Given the description of an element on the screen output the (x, y) to click on. 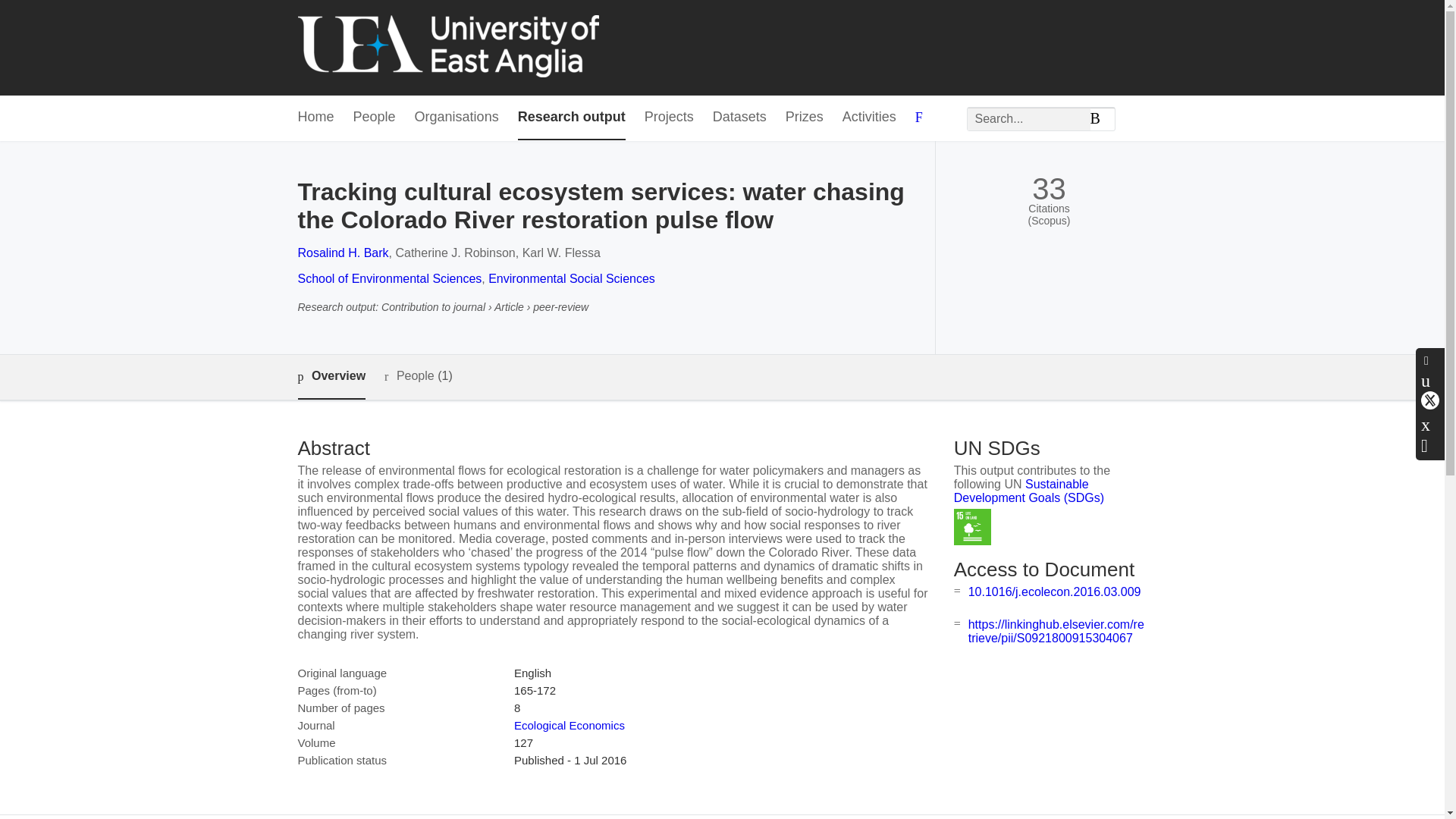
Research output (572, 117)
School of Environmental Sciences (389, 278)
SDG 15 - Life on Land (972, 527)
Overview (331, 376)
Organisations (456, 117)
Activities (869, 117)
Ecological Economics (568, 725)
University of East Anglia Home (447, 47)
People (374, 117)
